Given the description of an element on the screen output the (x, y) to click on. 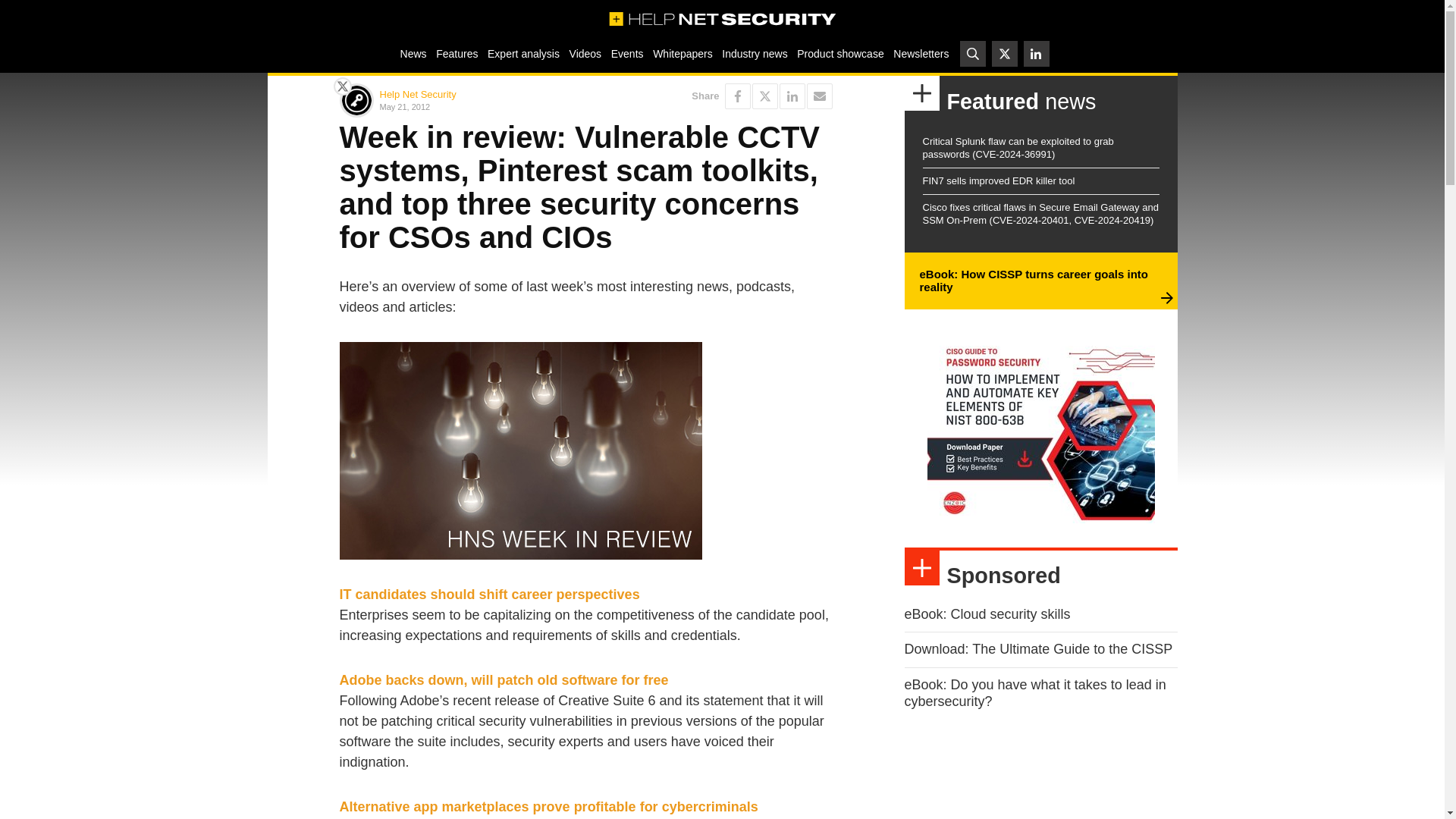
News (412, 53)
May 21, 2012 (478, 106)
FIN7 sells improved EDR killer tool (997, 180)
Newsletters (920, 53)
Videos (584, 53)
Features (456, 53)
Product showcase (840, 53)
Events (626, 53)
Whitepapers (682, 53)
Expert analysis (523, 53)
